Given the description of an element on the screen output the (x, y) to click on. 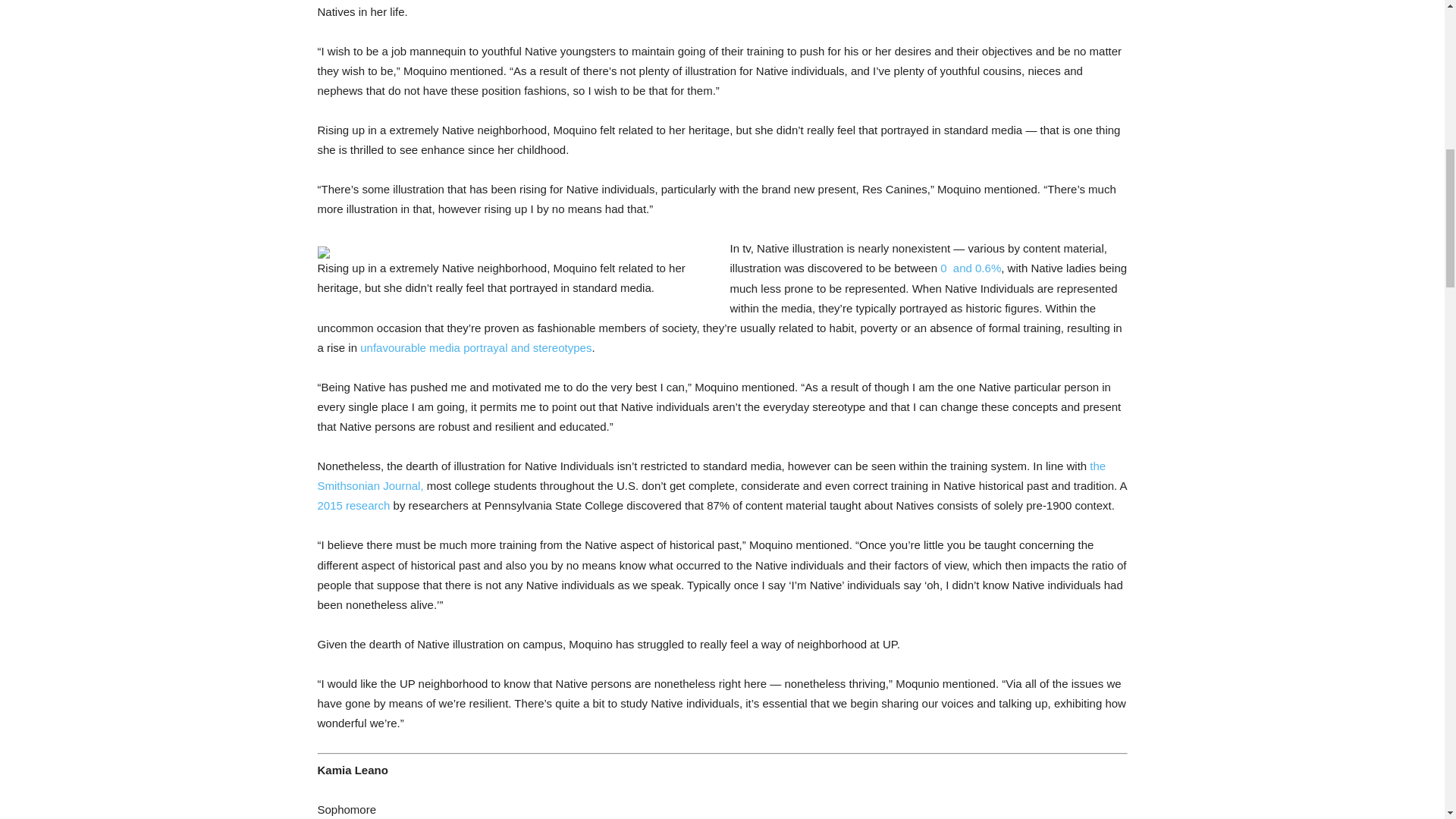
2015 research (353, 504)
unfavourable media portrayal and stereotypes (475, 347)
the Smithsonian Journal, (711, 475)
